Given the description of an element on the screen output the (x, y) to click on. 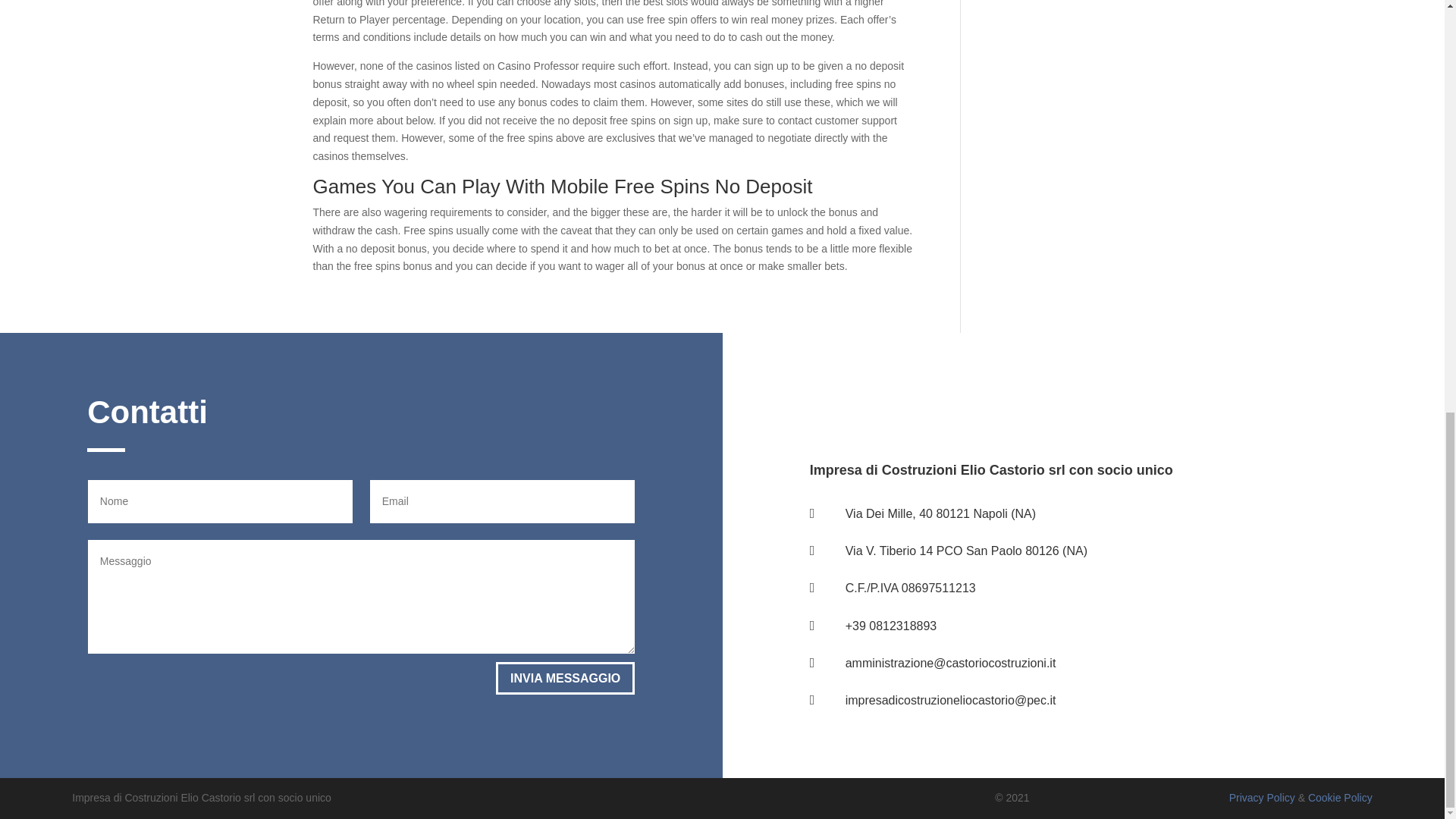
Cookie Policy (1340, 797)
INVIA MESSAGGIO (565, 677)
Privacy Policy (1261, 797)
